Given the description of an element on the screen output the (x, y) to click on. 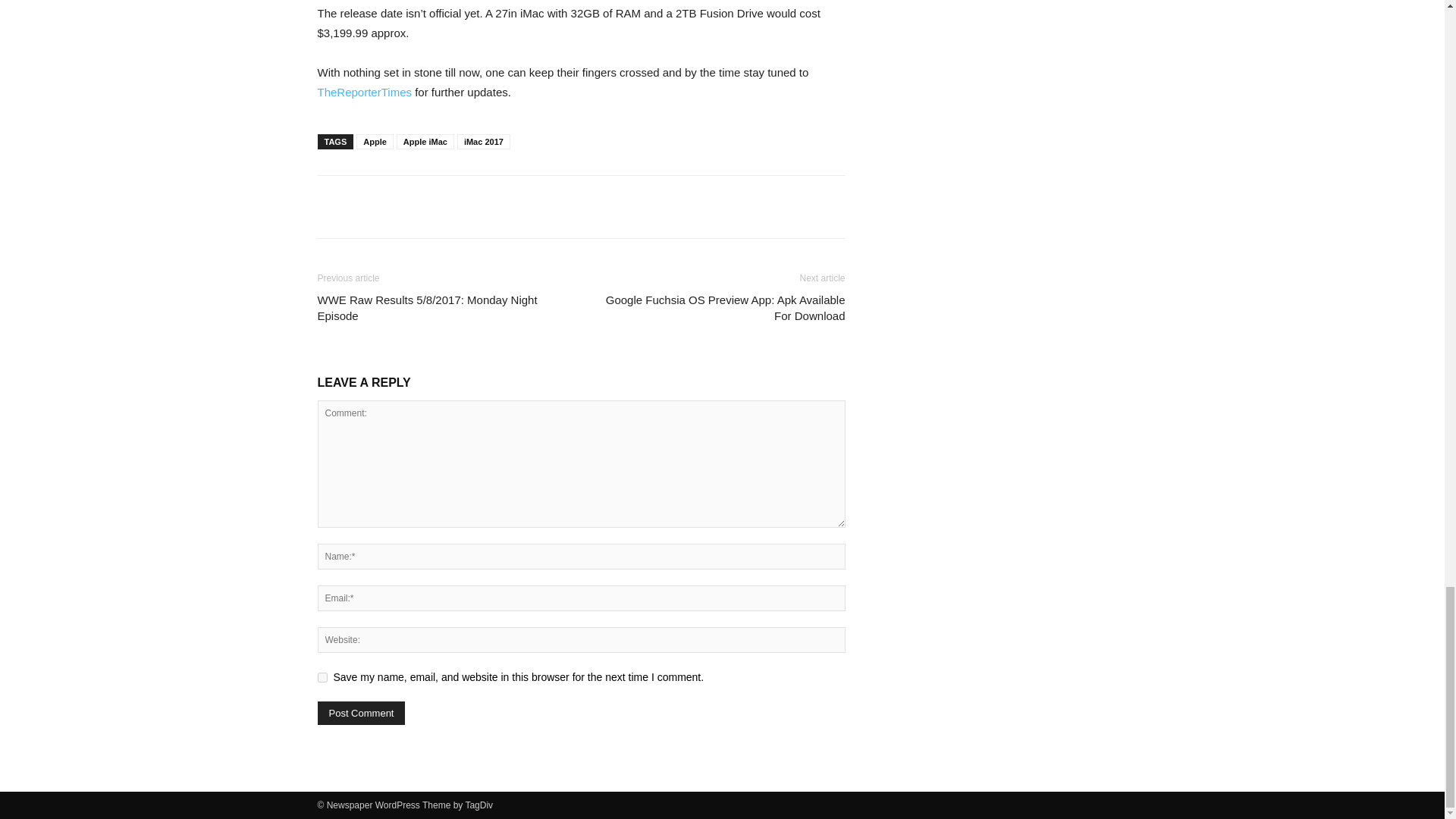
Post Comment (360, 712)
yes (321, 677)
